Given the description of an element on the screen output the (x, y) to click on. 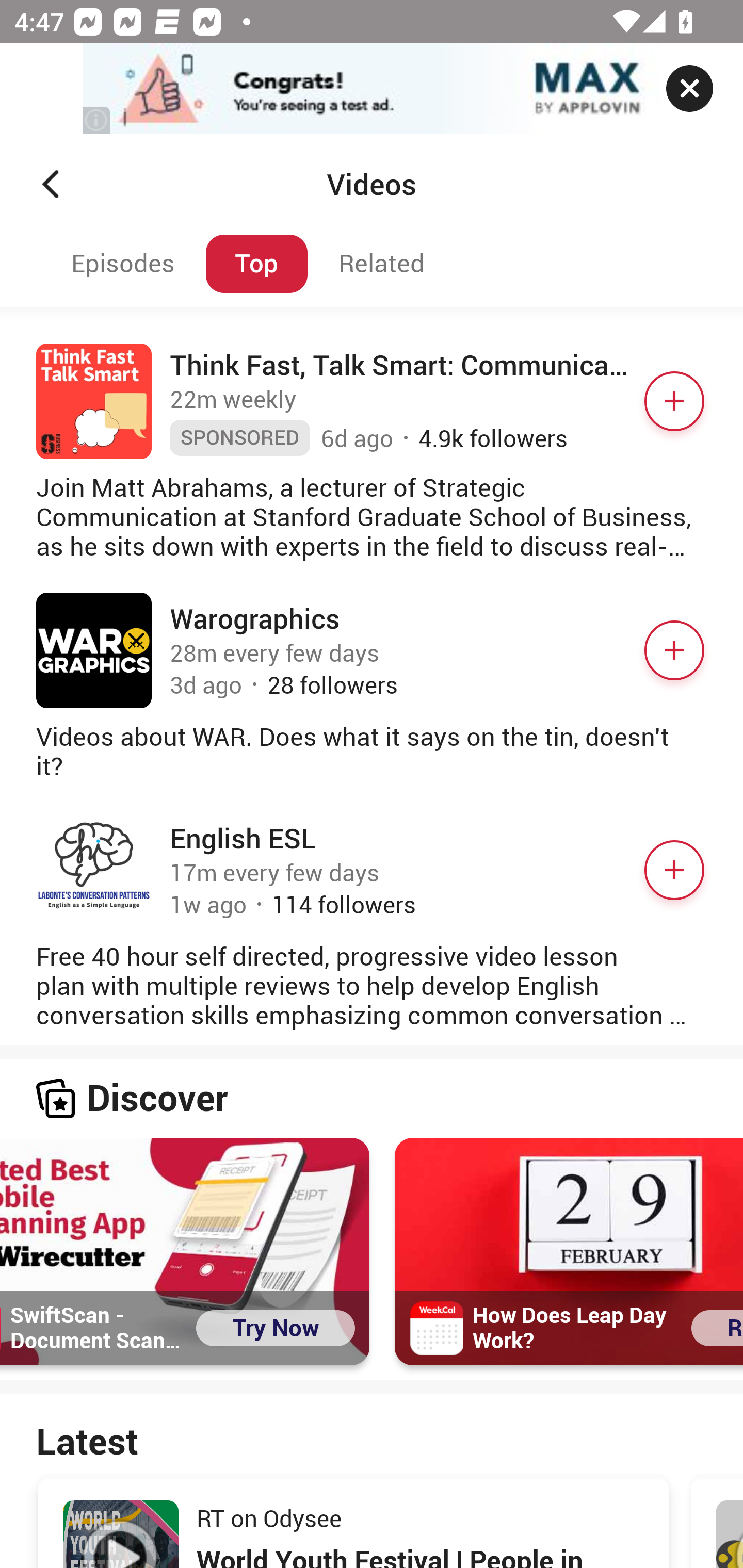
app-monetization (371, 88)
(i) (96, 119)
Navigate up (50, 184)
 Episodes (119, 264)
Top (256, 264)
Related (381, 264)
Subscribe button (673, 401)
Subscribe button (673, 650)
Subscribe button (673, 870)
Discover (371, 1098)
SwiftScan - Document Scanner & PDF Editor Try Now (184, 1251)
How Does Leap Day Work?  Read (568, 1251)
Try Now (275, 1328)
Latest (371, 1439)
Play (120, 1534)
